Given the description of an element on the screen output the (x, y) to click on. 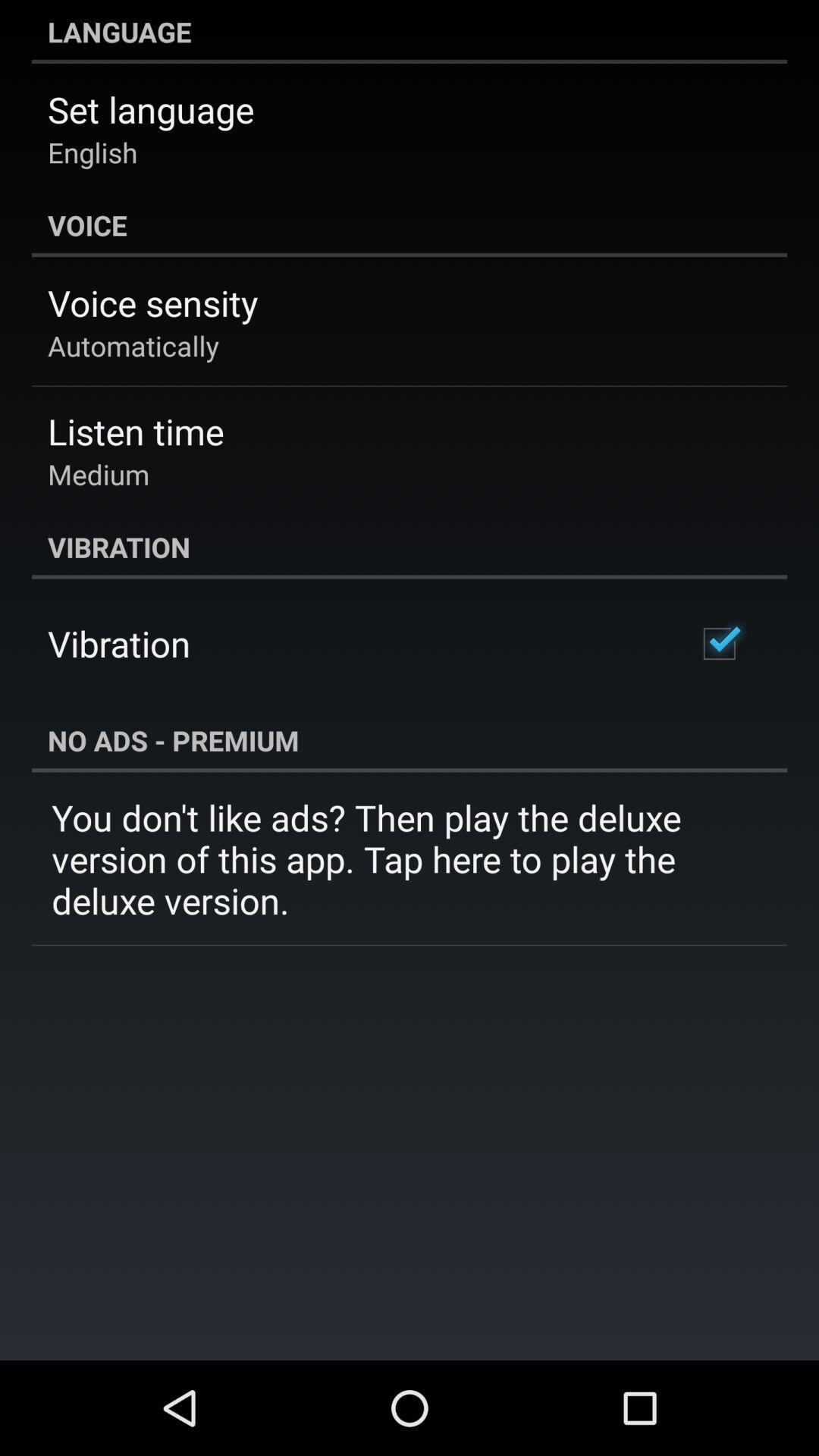
turn off the app above vibration icon (98, 474)
